Given the description of an element on the screen output the (x, y) to click on. 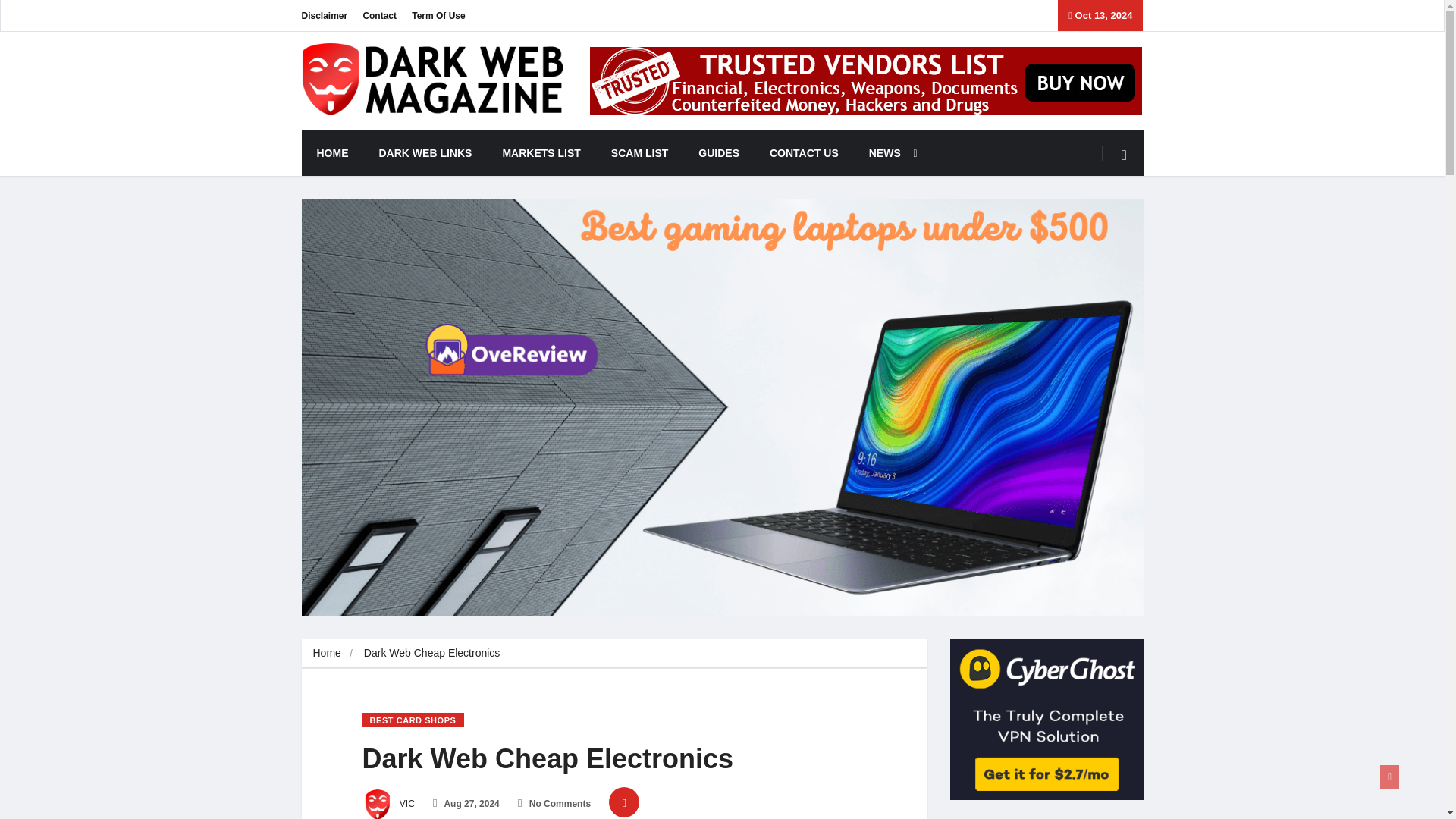
SCAM LIST (638, 153)
Contact (379, 15)
Home (326, 653)
BEST CARD SHOPS (413, 719)
CONTACT US (803, 153)
Disclaimer (324, 15)
DARK WEB LINKS (425, 153)
GUIDES (718, 153)
Term Of Use (438, 15)
VIC (388, 803)
HOME (332, 153)
NEWS (888, 153)
MARKETS LIST (540, 153)
